Given the description of an element on the screen output the (x, y) to click on. 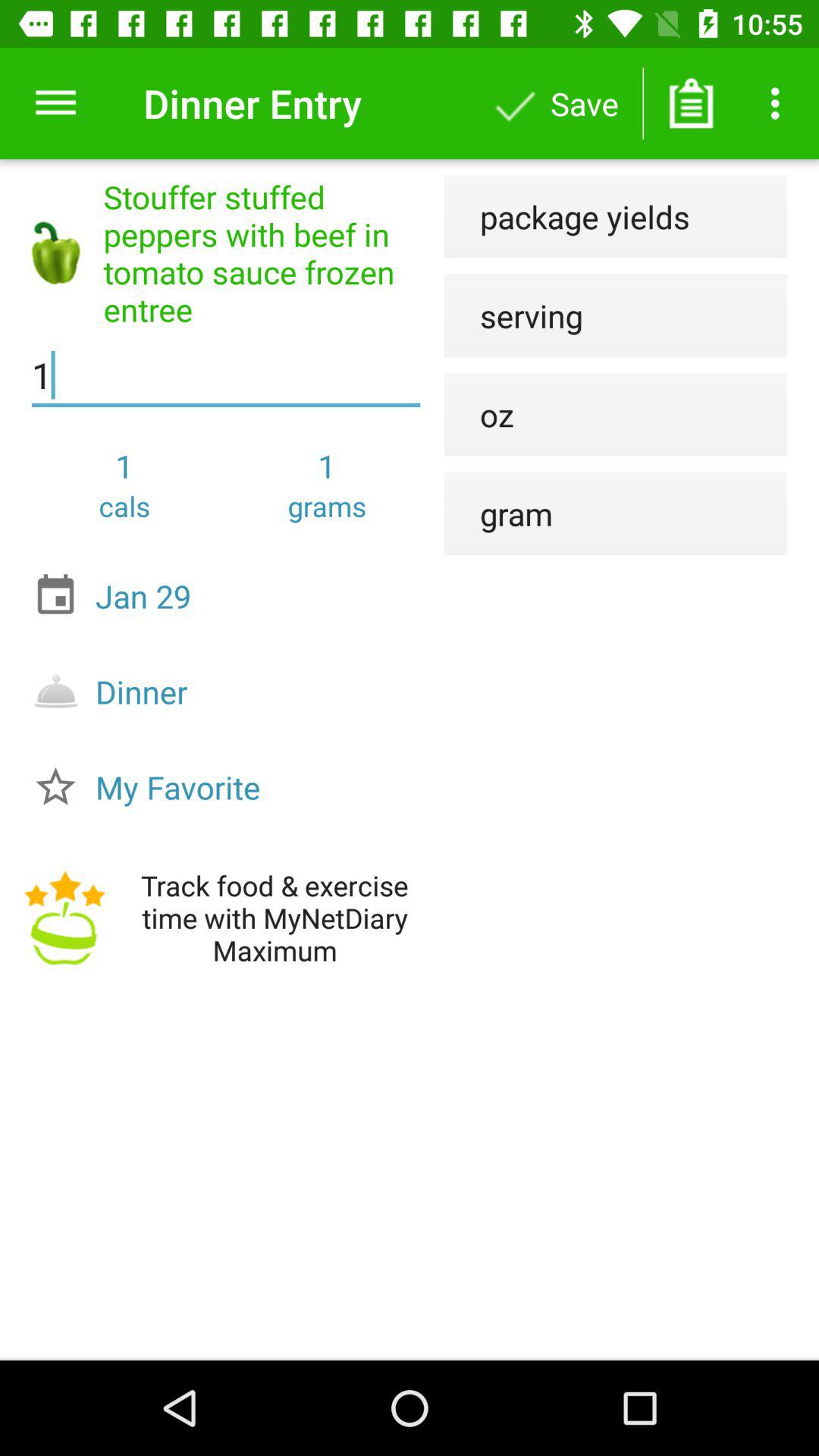
select icon below the   oz item (498, 513)
